Given the description of an element on the screen output the (x, y) to click on. 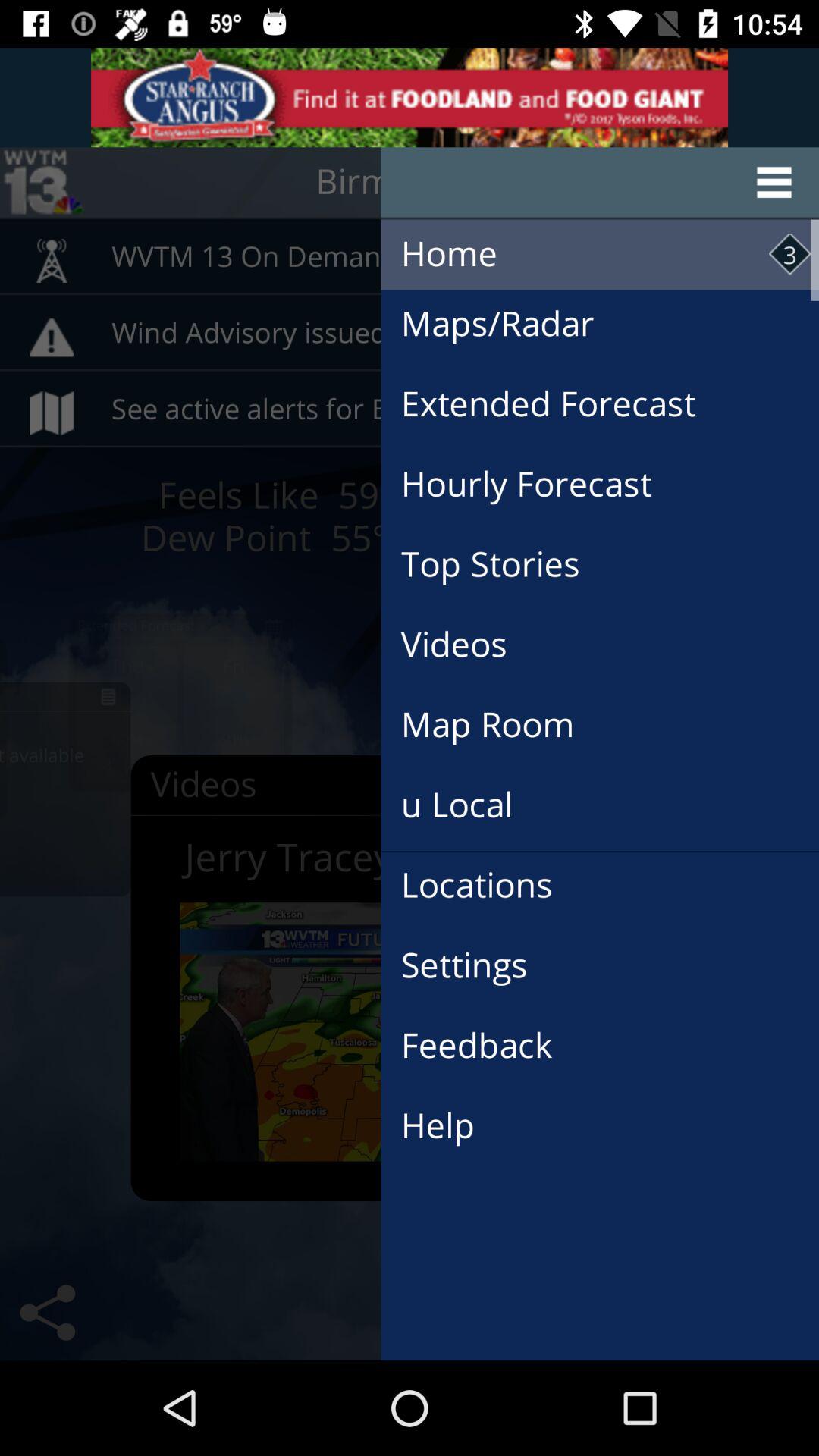
click on the menu button at the right side of the page (600, 183)
